Given the description of an element on the screen output the (x, y) to click on. 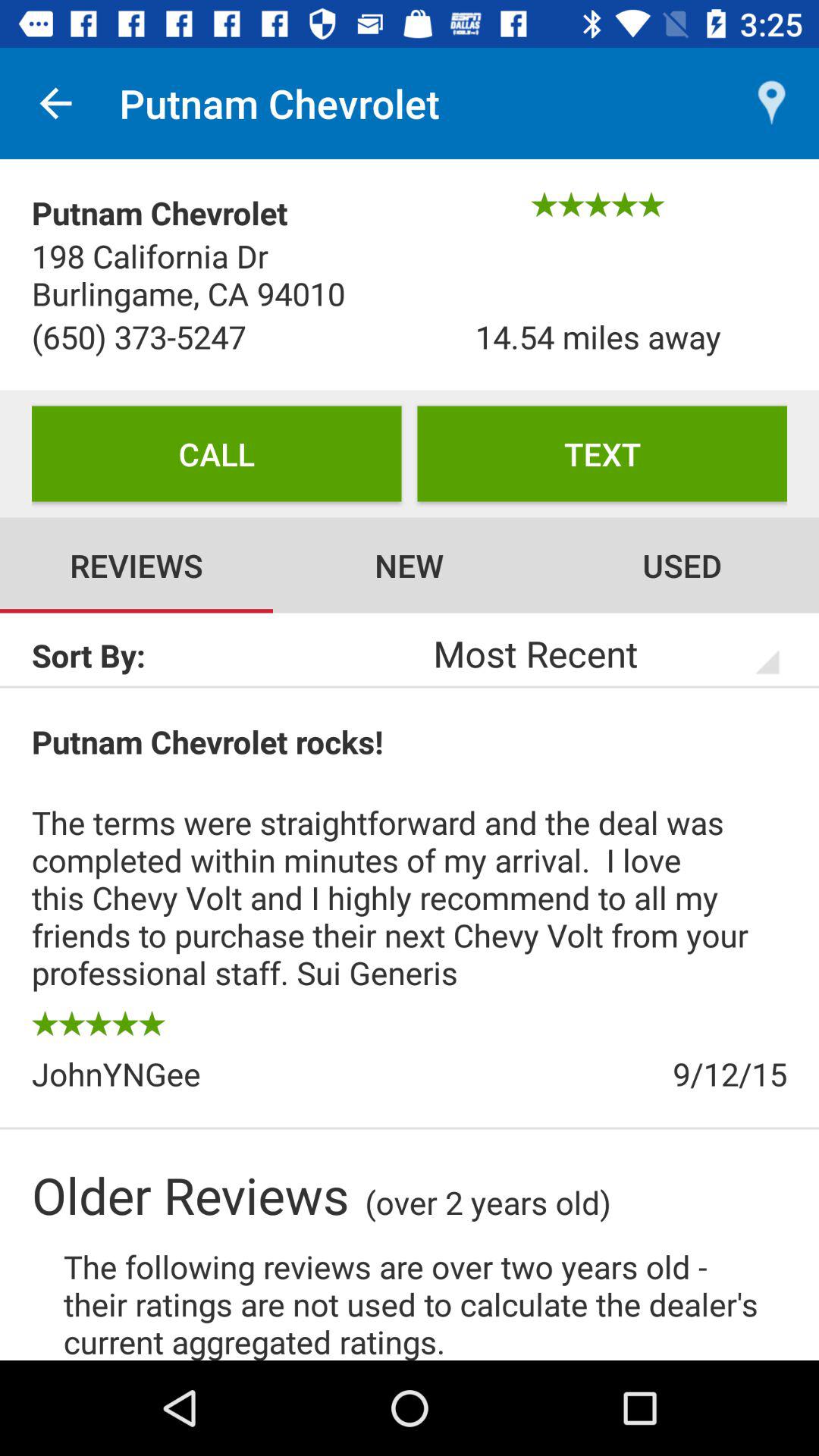
launch most recent item (586, 653)
